Given the description of an element on the screen output the (x, y) to click on. 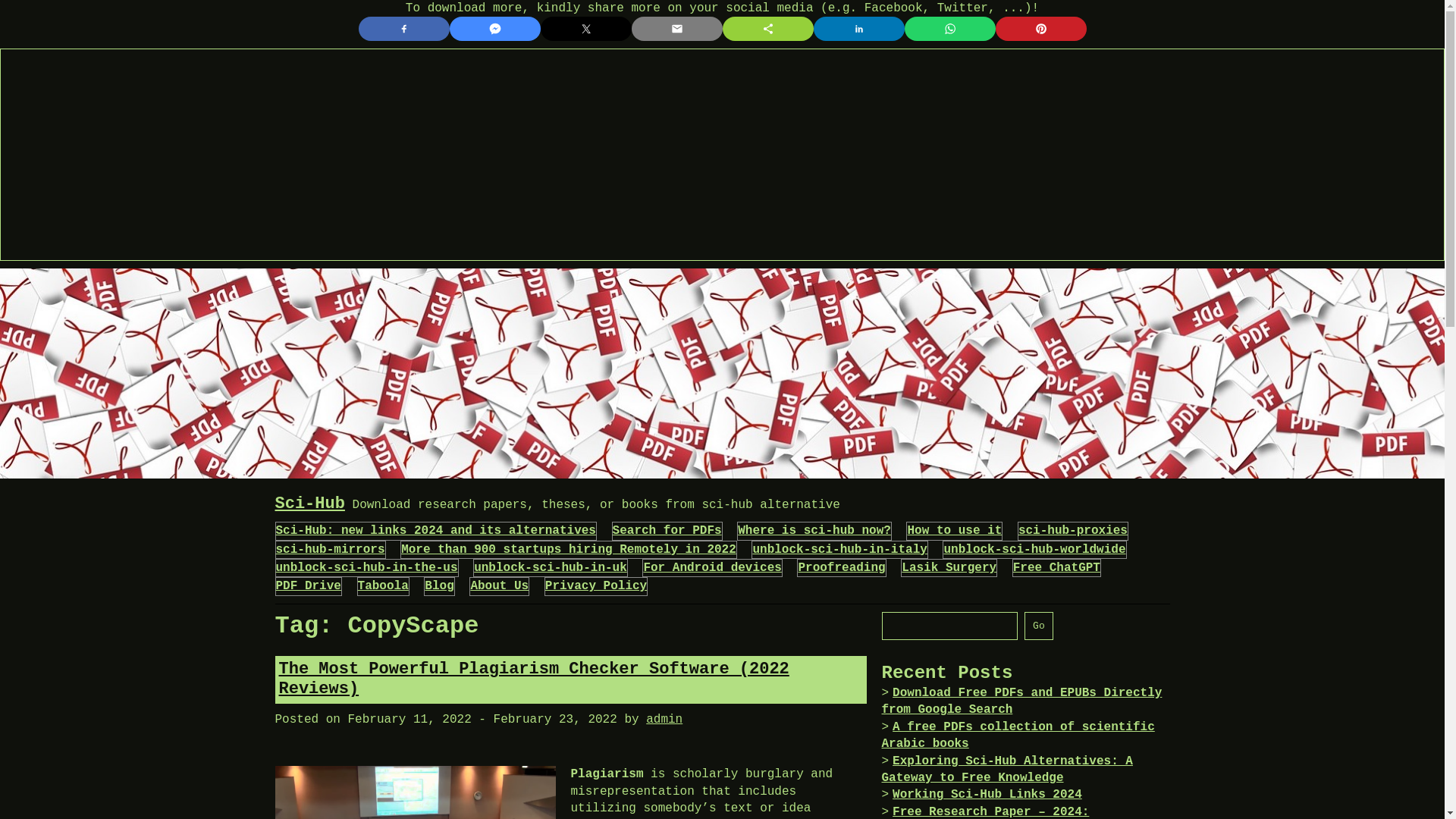
PDF Drive (308, 585)
Where is sci-hub now? (814, 530)
unblock-sci-hub-worldwide (1034, 549)
unblock-sci-hub-in-the-us (367, 567)
About Us (499, 585)
sci-hub-proxies (1071, 530)
admin (664, 719)
How to use it (954, 530)
Lasik Surgery (948, 567)
Privacy Policy (595, 585)
